Given the description of an element on the screen output the (x, y) to click on. 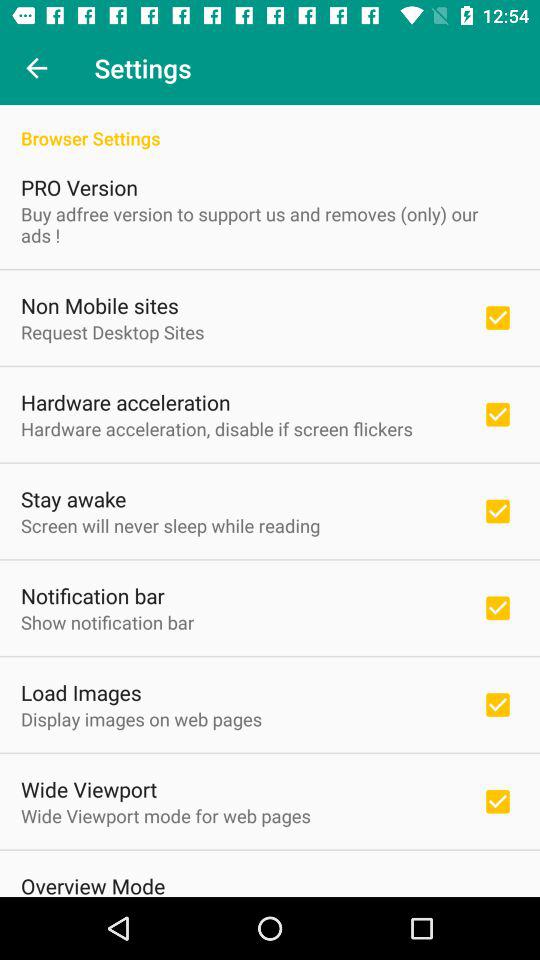
turn off the buy adfree version item (270, 224)
